Given the description of an element on the screen output the (x, y) to click on. 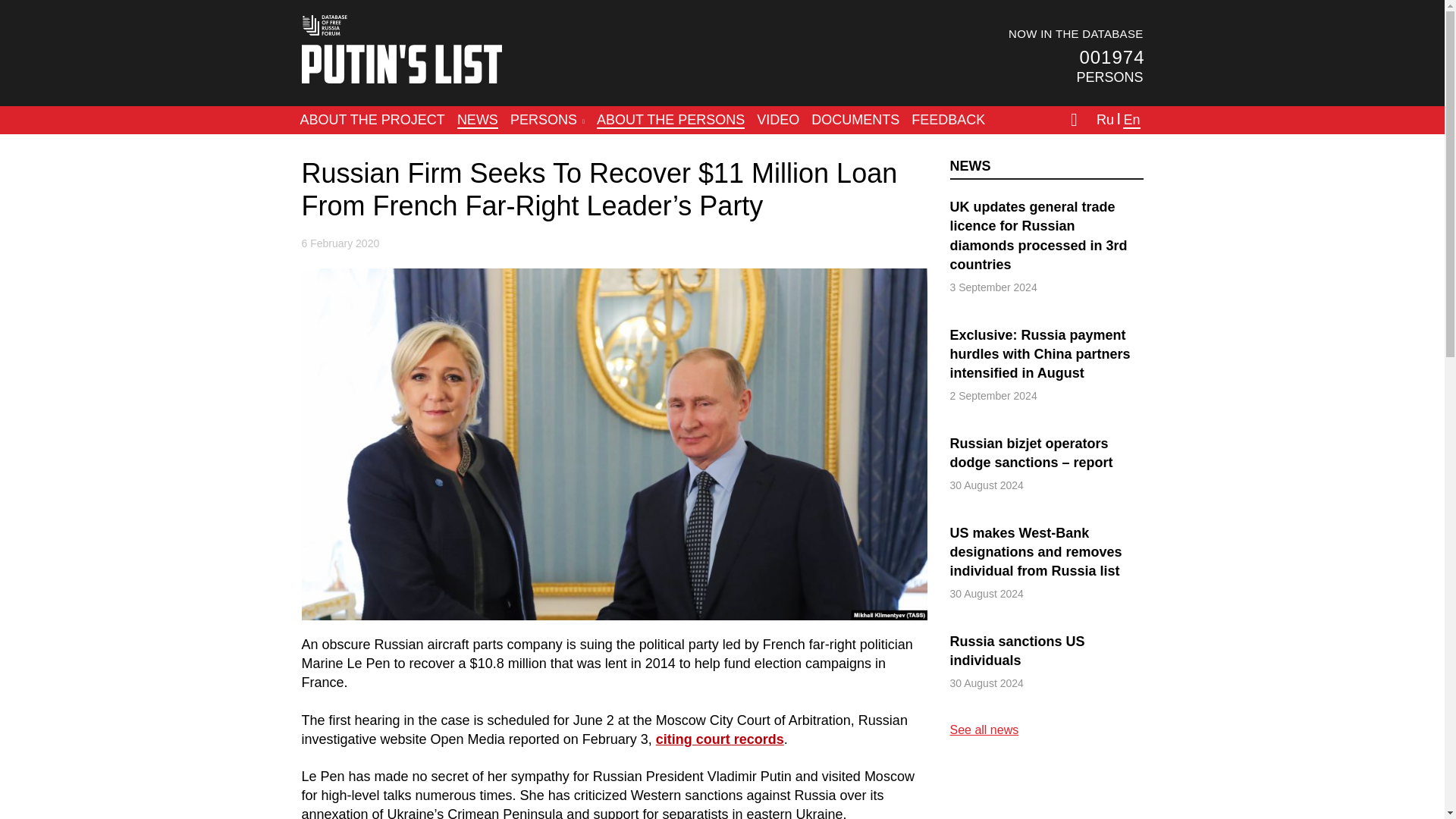
See all news (983, 729)
Russia sanctions US individuals (1045, 651)
ABOUT THE PROJECT (372, 120)
DOCUMENTS (855, 120)
PERSONS (547, 120)
citing court records (720, 739)
NEWS (969, 165)
